Given the description of an element on the screen output the (x, y) to click on. 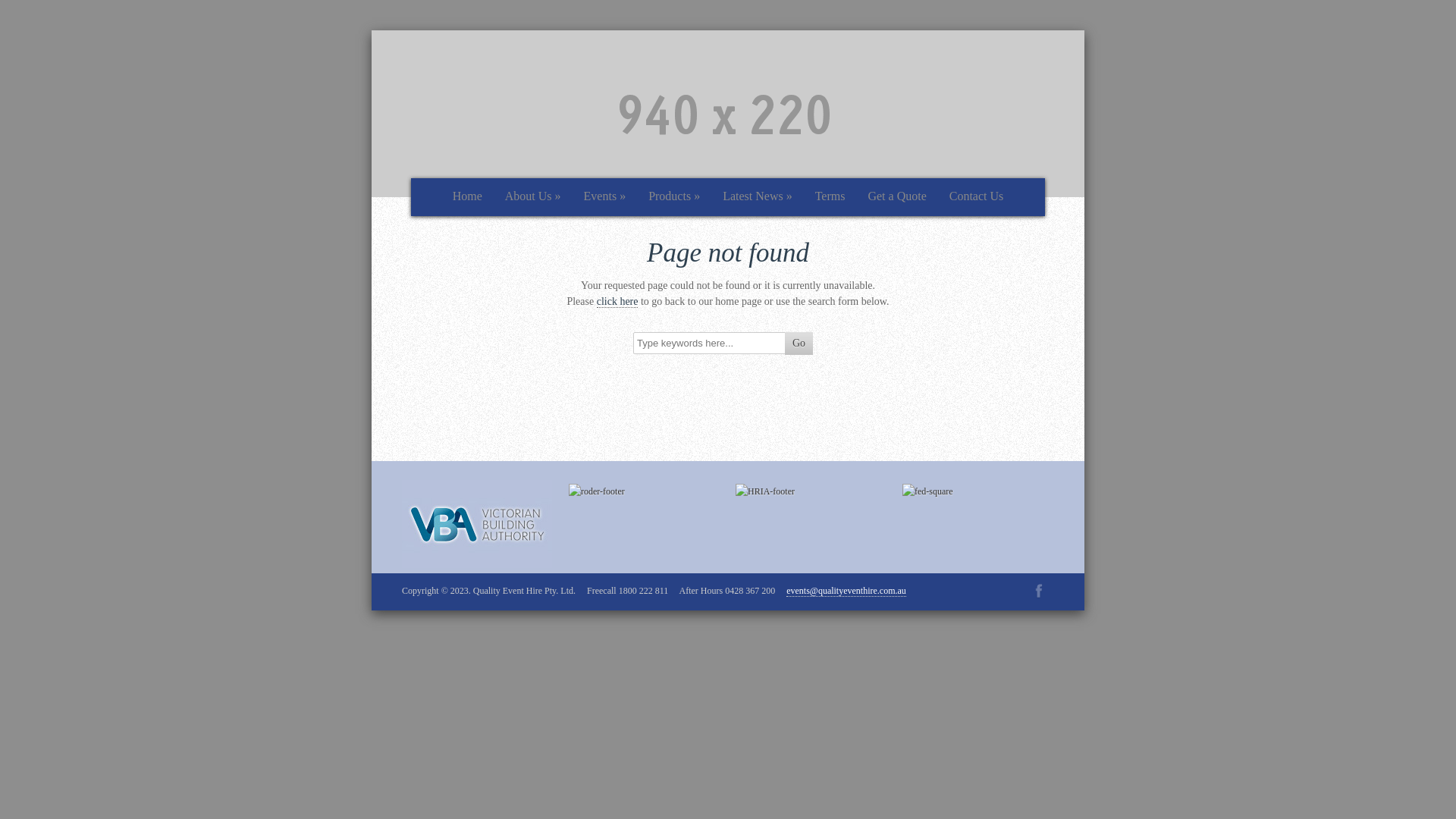
click here Element type: text (617, 301)
Contact Us Element type: text (976, 197)
Home Element type: text (467, 197)
events@qualityeventhire.com.au Element type: text (846, 590)
Get a Quote Element type: text (896, 197)
Go Element type: text (798, 343)
Terms Element type: text (829, 197)
